Given the description of an element on the screen output the (x, y) to click on. 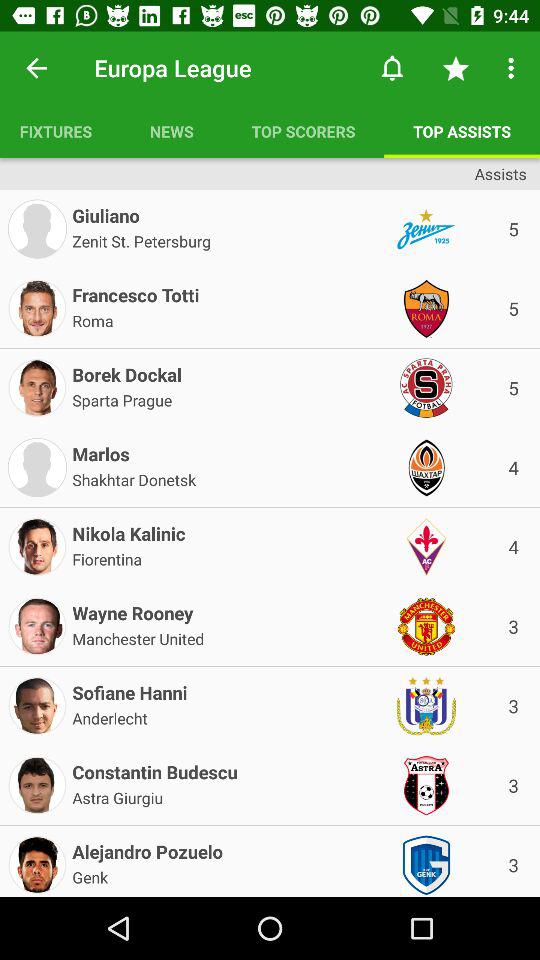
swipe to the manchester united (138, 637)
